Given the description of an element on the screen output the (x, y) to click on. 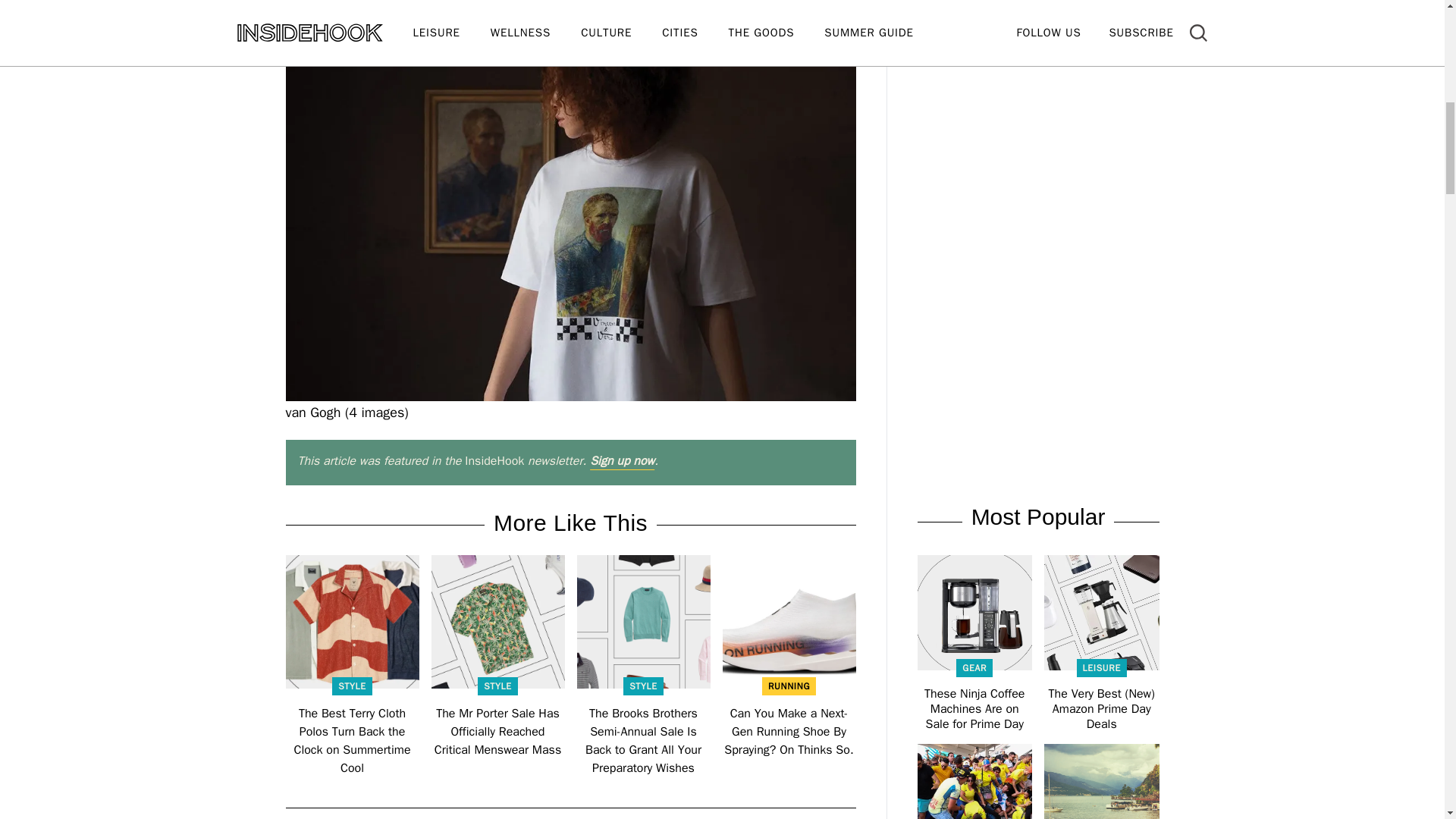
3rd party ad content (1037, 19)
